Given the description of an element on the screen output the (x, y) to click on. 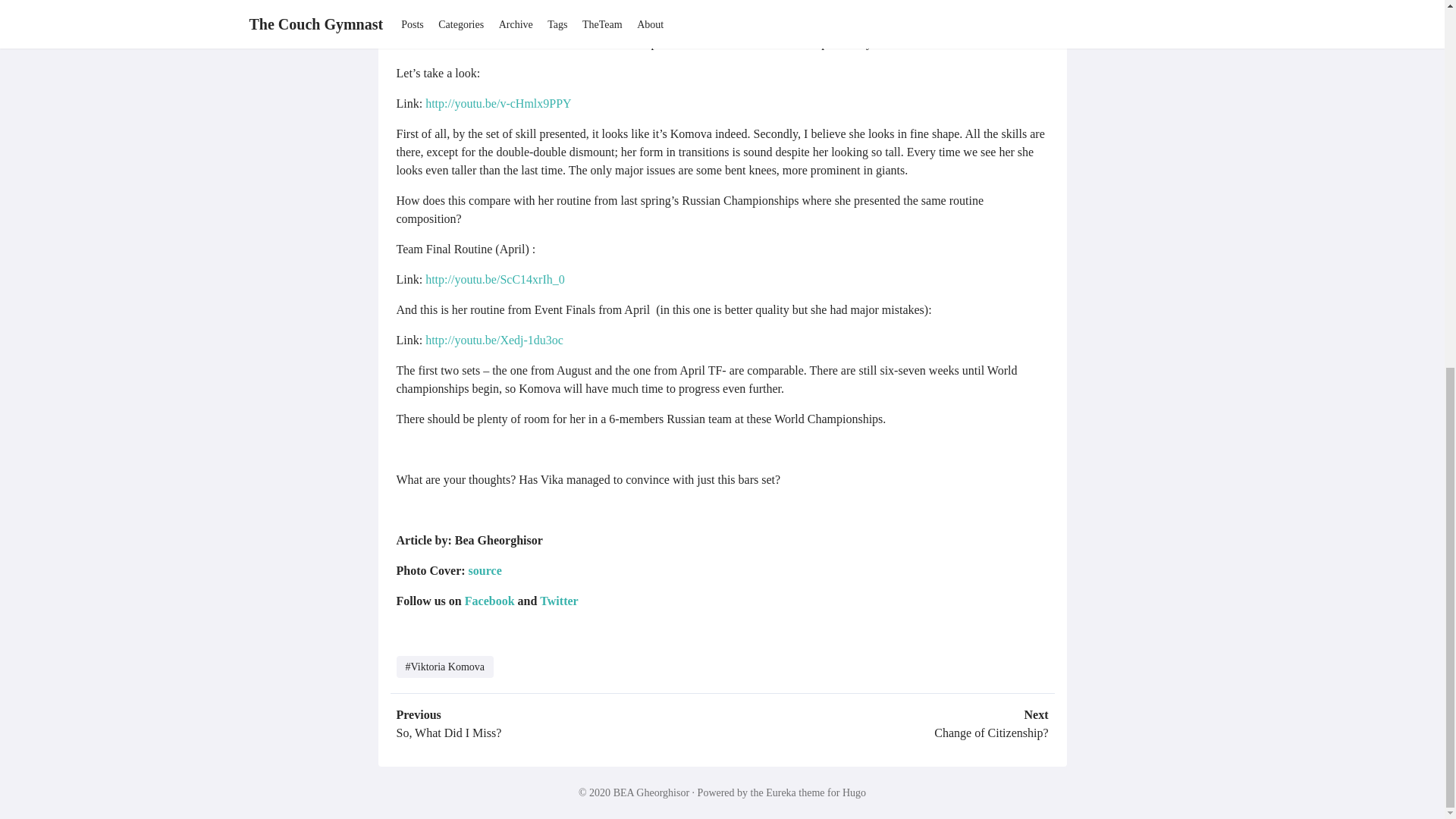
source (485, 570)
Eureka (780, 792)
So, What Did I Miss? (448, 732)
BEA Gheorghisor (650, 792)
Twitter (559, 600)
Hugo (854, 792)
Facebook (489, 600)
Change of Citizenship? (991, 732)
